Given the description of an element on the screen output the (x, y) to click on. 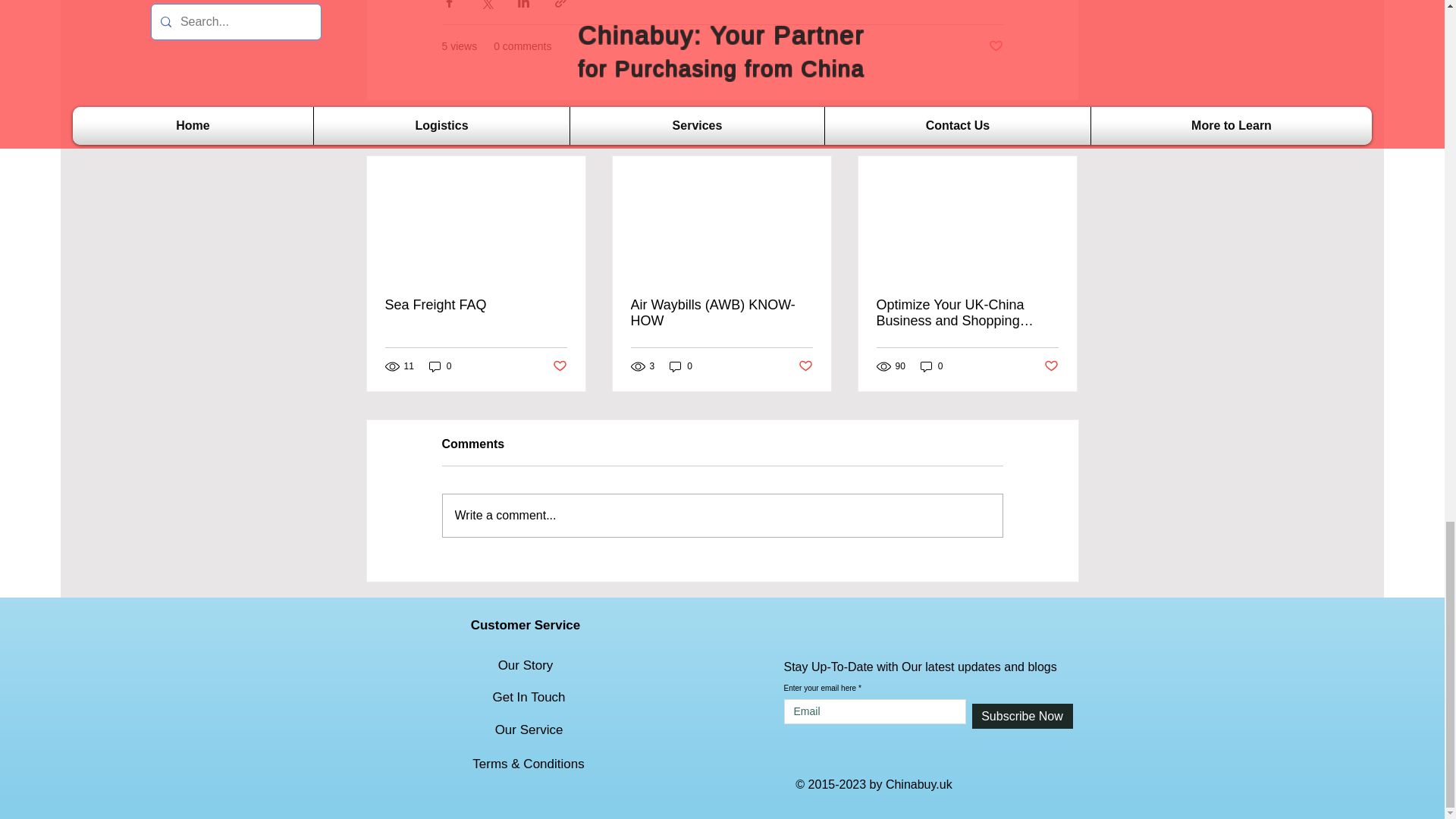
See All (1061, 128)
Post not marked as liked (558, 365)
0 (440, 366)
Post not marked as liked (995, 46)
Sea Freight FAQ (476, 304)
0 (681, 366)
